Given the description of an element on the screen output the (x, y) to click on. 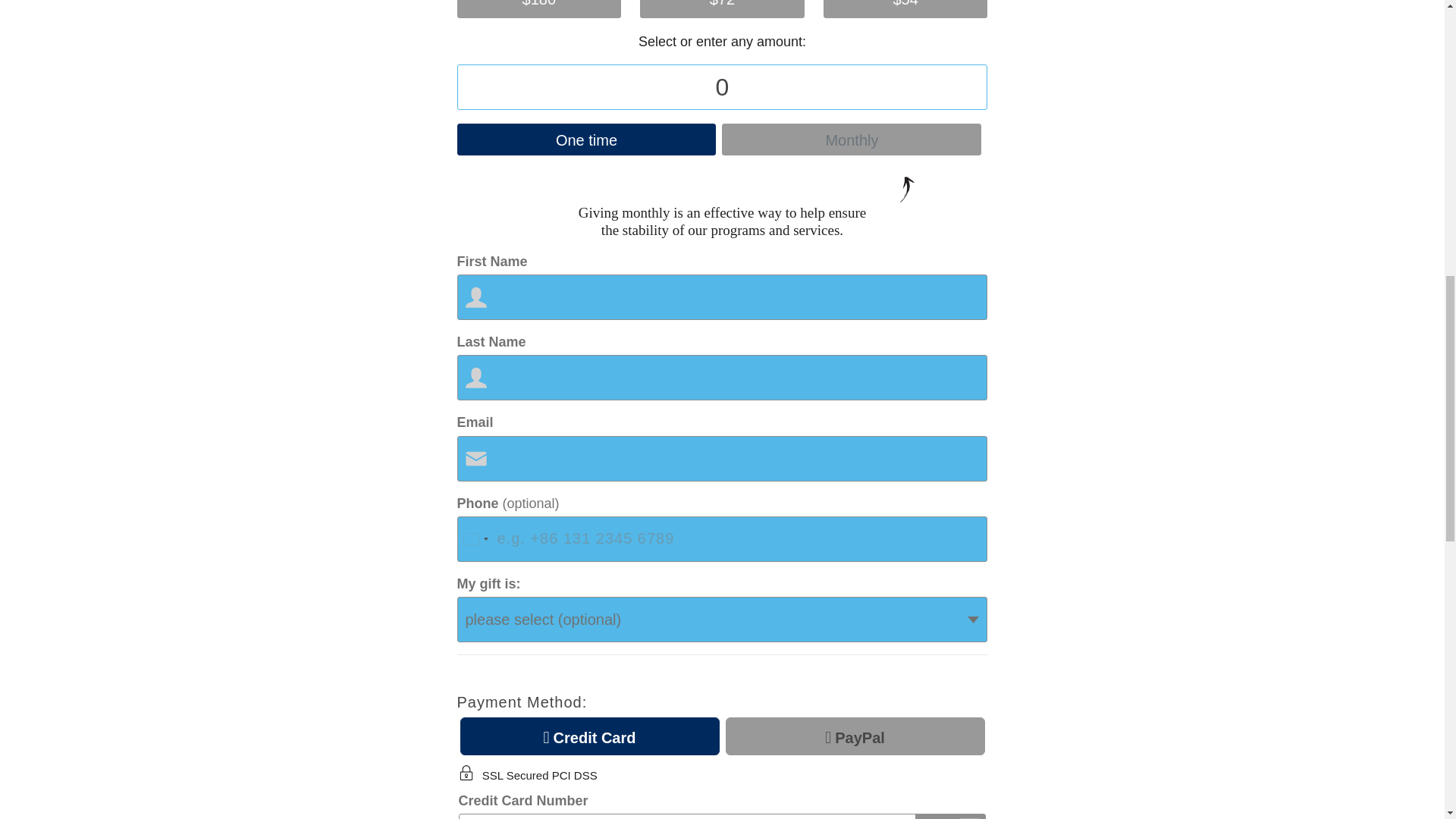
0 (722, 86)
